Given the description of an element on the screen output the (x, y) to click on. 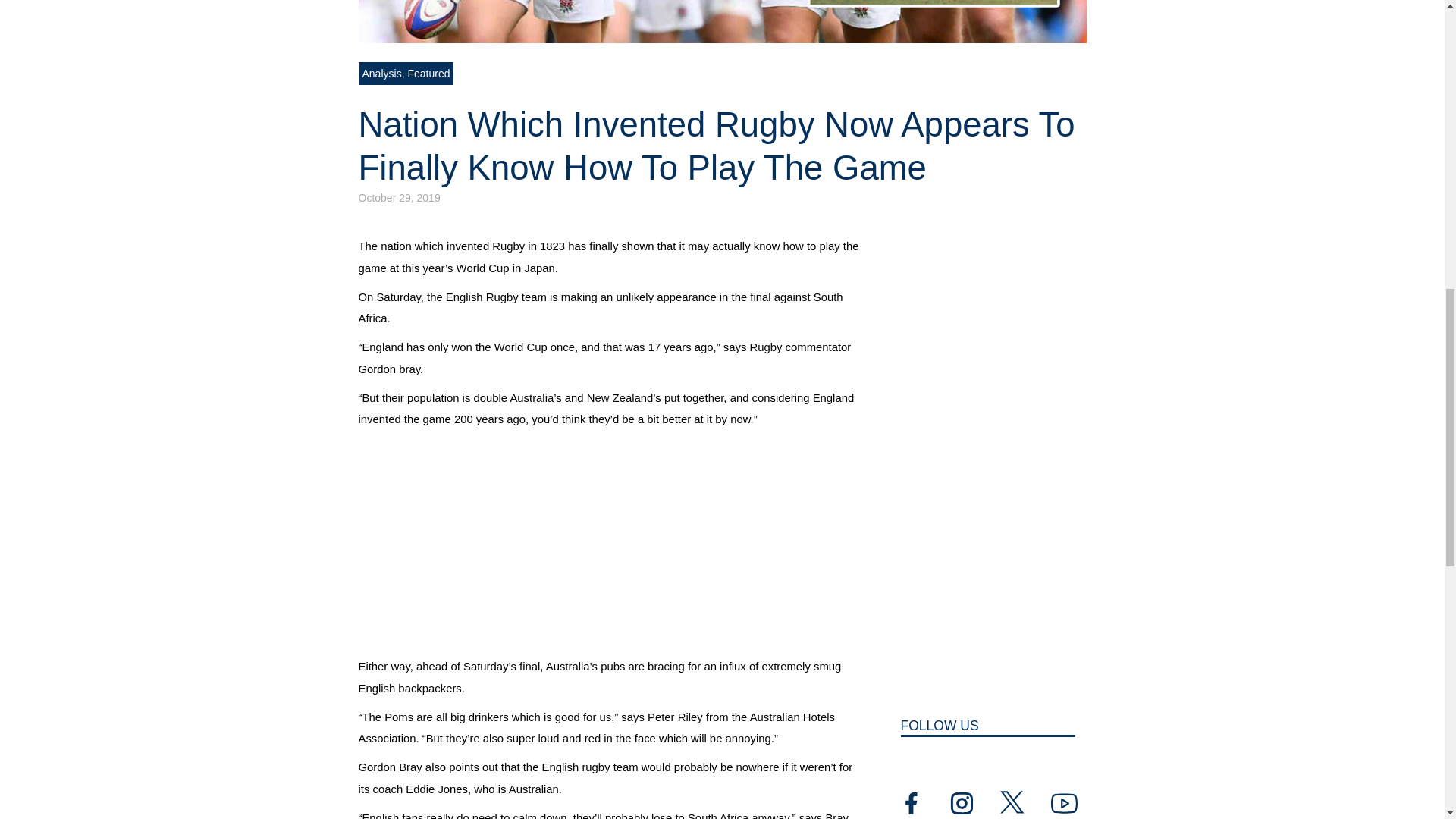
Analysis (381, 73)
Featured (428, 73)
avo27 (722, 21)
